Given the description of an element on the screen output the (x, y) to click on. 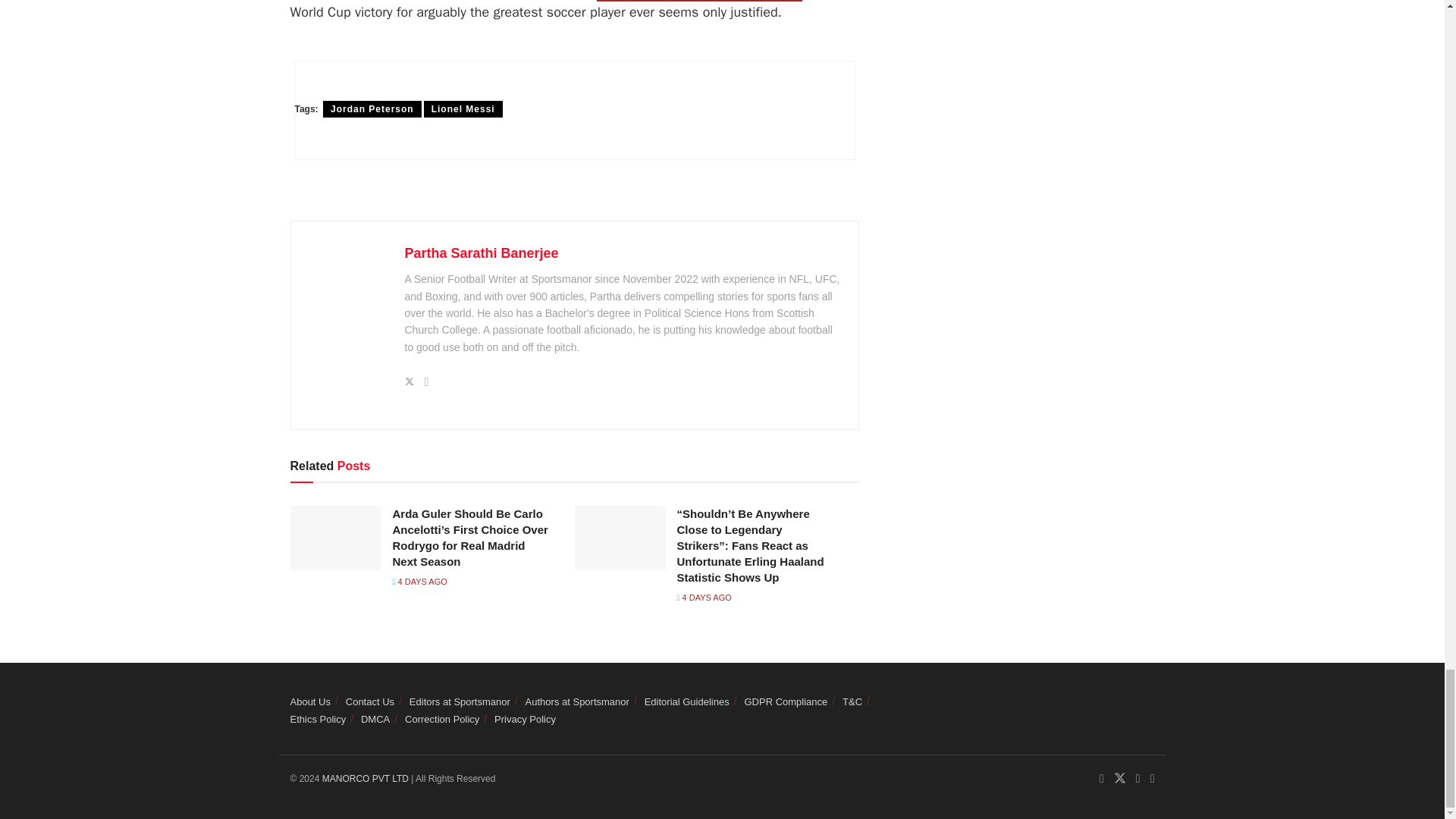
Sportsmanor (366, 778)
